Given the description of an element on the screen output the (x, y) to click on. 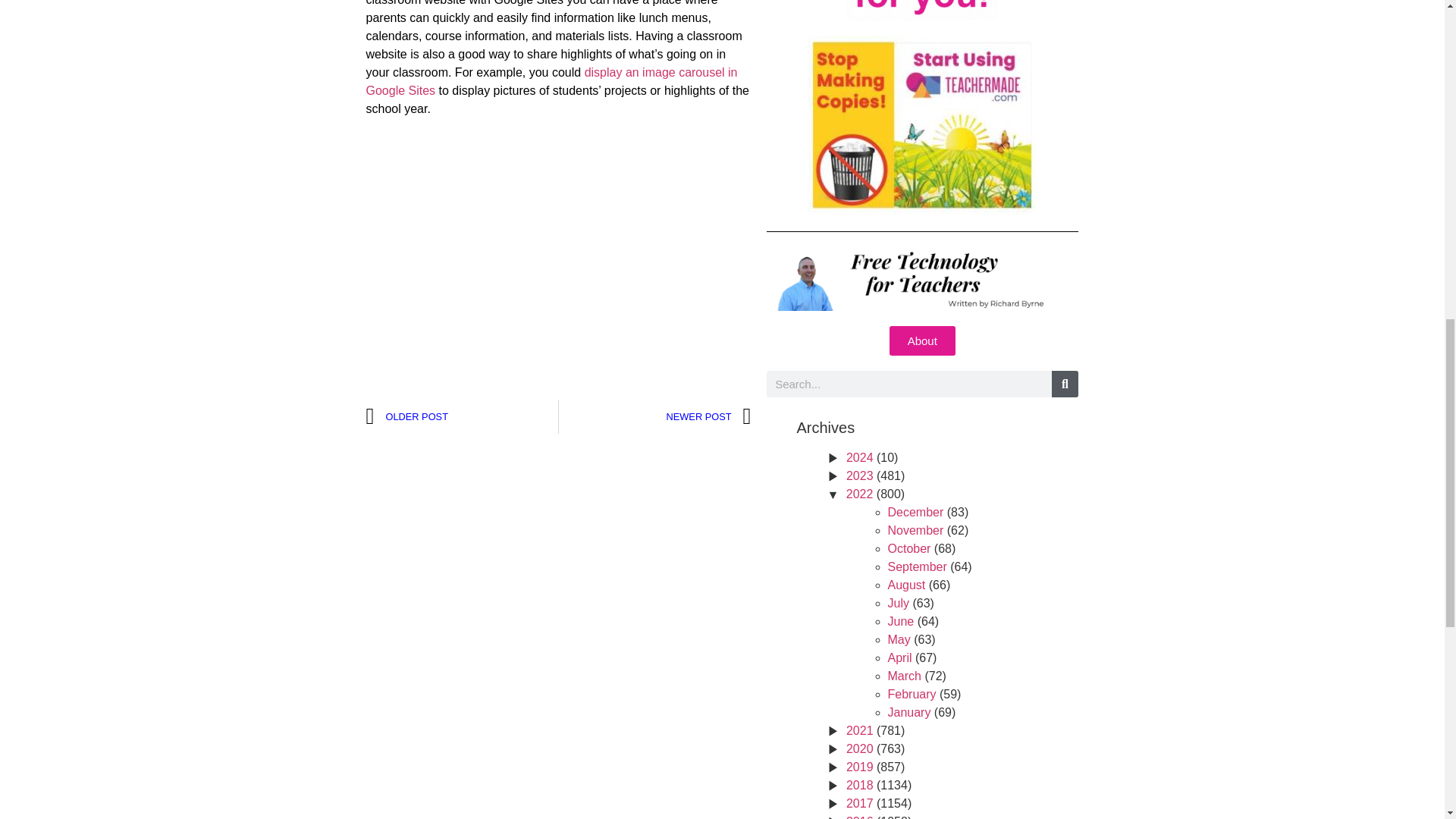
YouTube video player (558, 248)
